Given the description of an element on the screen output the (x, y) to click on. 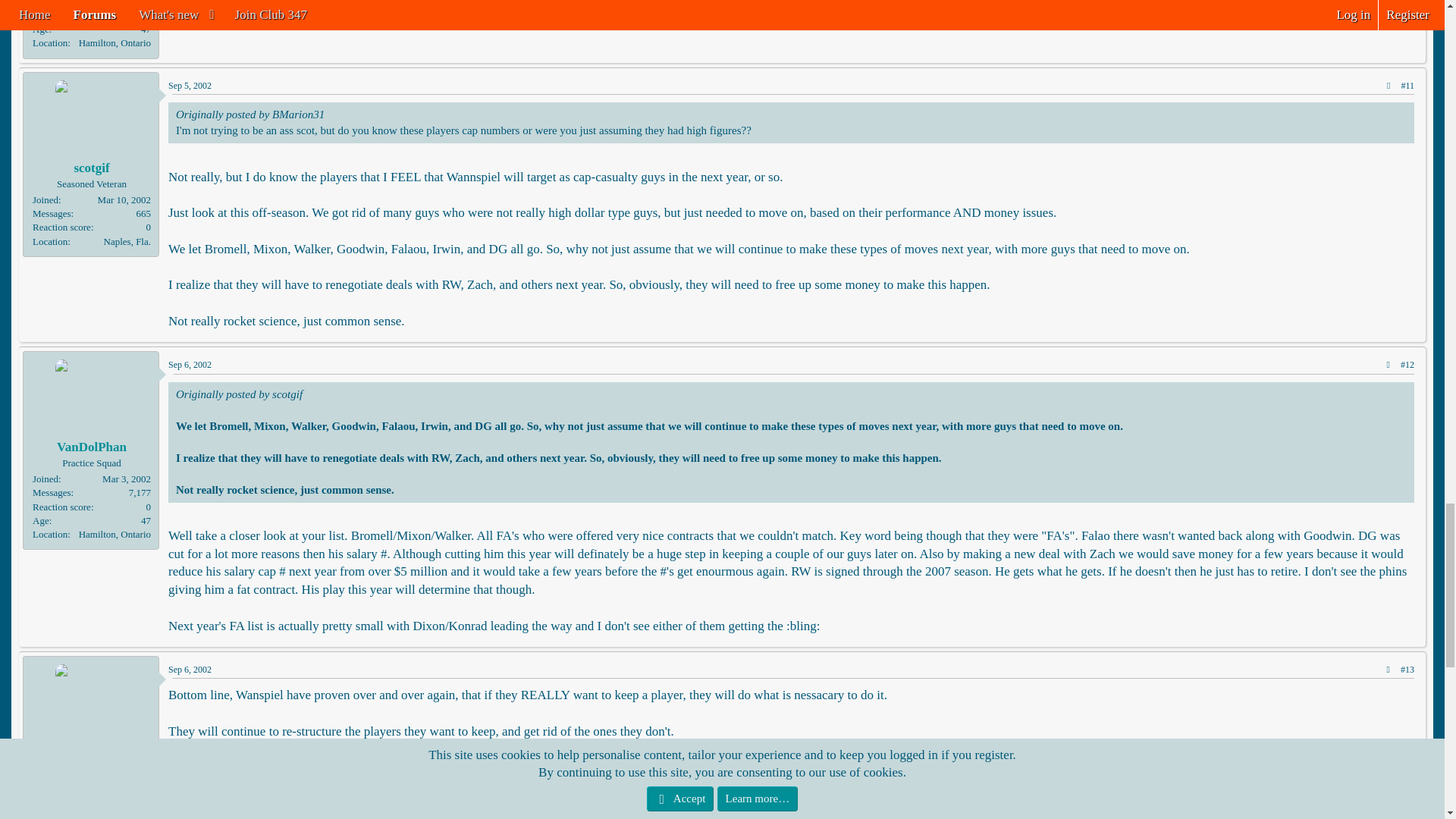
Sep 6, 2002 at 12:48 PM (189, 669)
Sep 6, 2002 at 8:24 AM (189, 364)
Sep 5, 2002 at 11:05 PM (189, 85)
